Given the description of an element on the screen output the (x, y) to click on. 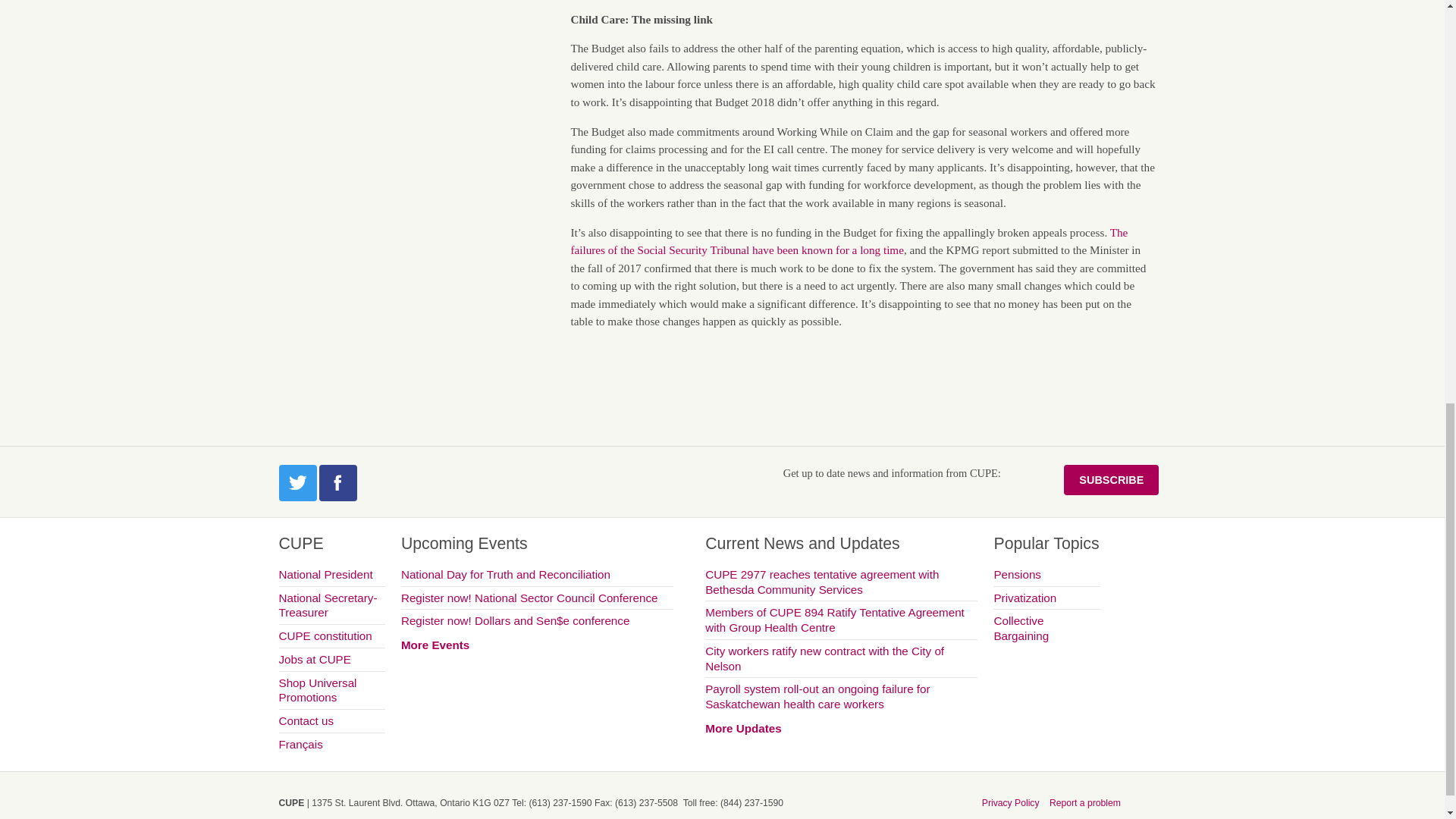
Visit our facebook page. (337, 483)
Facebook (337, 483)
Visit our twitter page. (298, 483)
Twitter (298, 483)
